Given the description of an element on the screen output the (x, y) to click on. 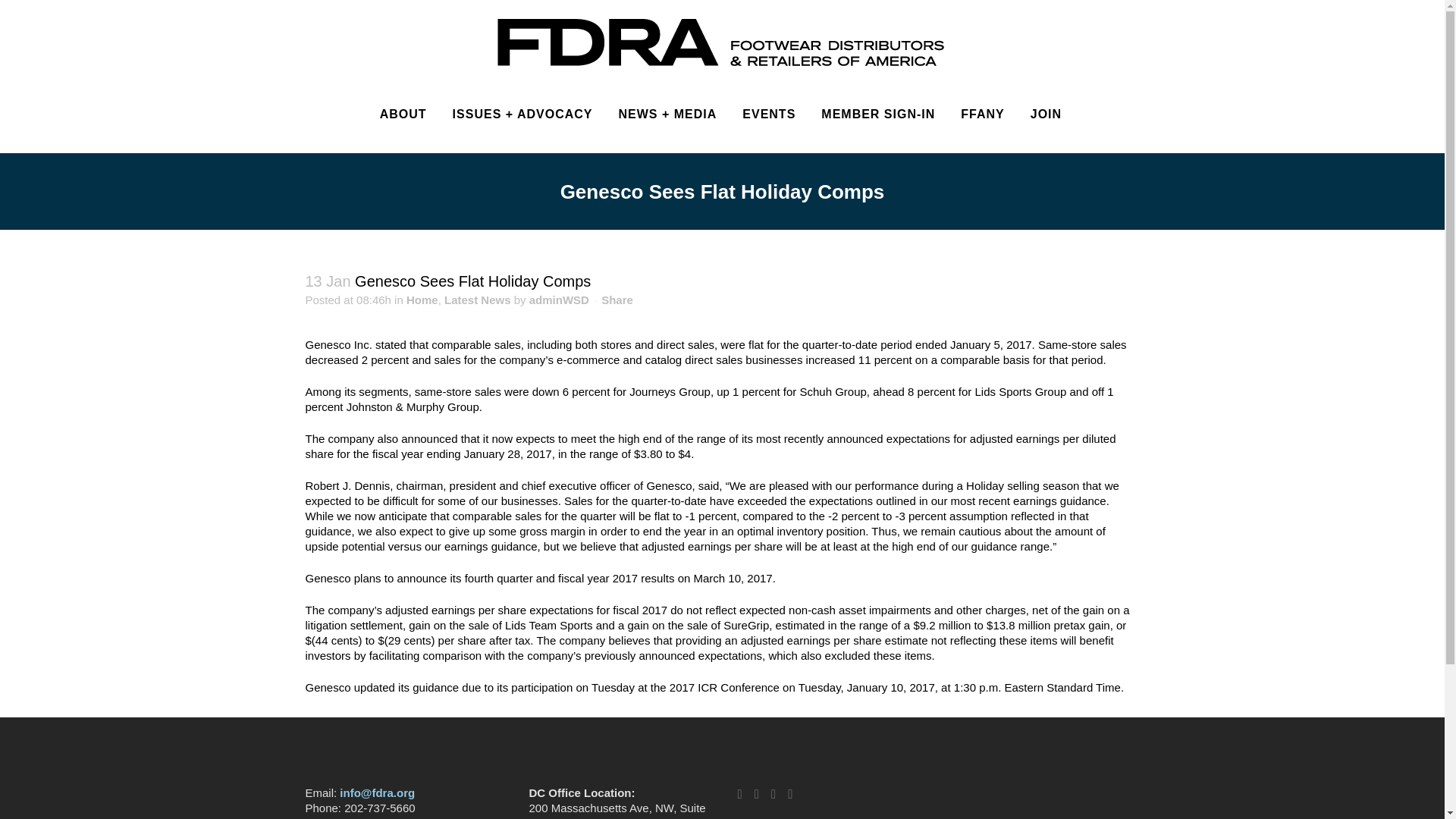
MEMBER SIGN-IN (877, 114)
EVENTS (768, 114)
FFANY (981, 114)
ABOUT (402, 114)
